Given the description of an element on the screen output the (x, y) to click on. 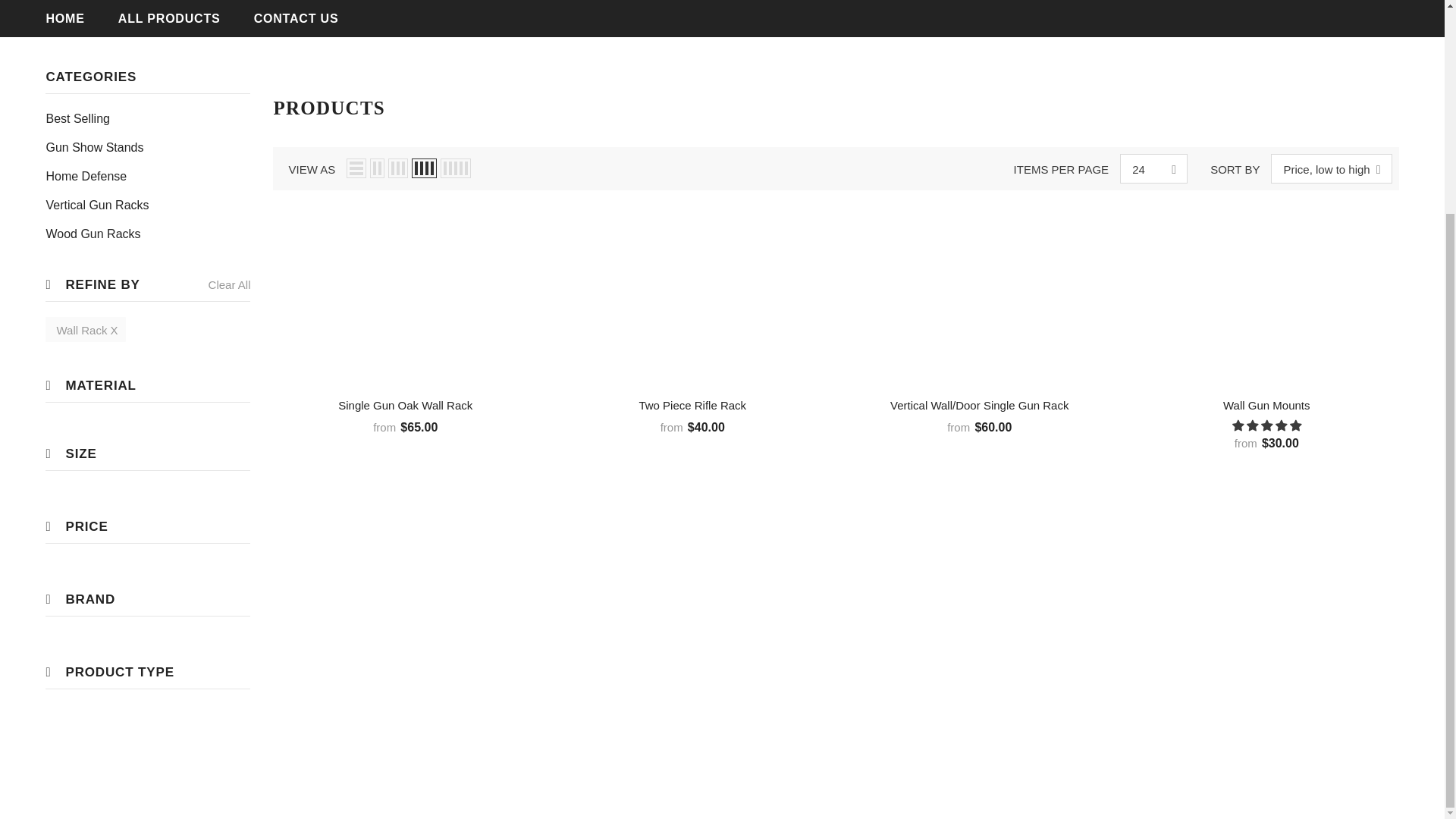
Gun Show Stands (93, 146)
Wall Rack X (85, 329)
Home Defense (85, 175)
Best Selling (77, 118)
ALL PRODUCTS (169, 18)
Clear All (229, 284)
CONTACT US (296, 18)
HOME (64, 18)
Wood Gun Racks (92, 233)
Vertical Gun Racks (96, 204)
